Given the description of an element on the screen output the (x, y) to click on. 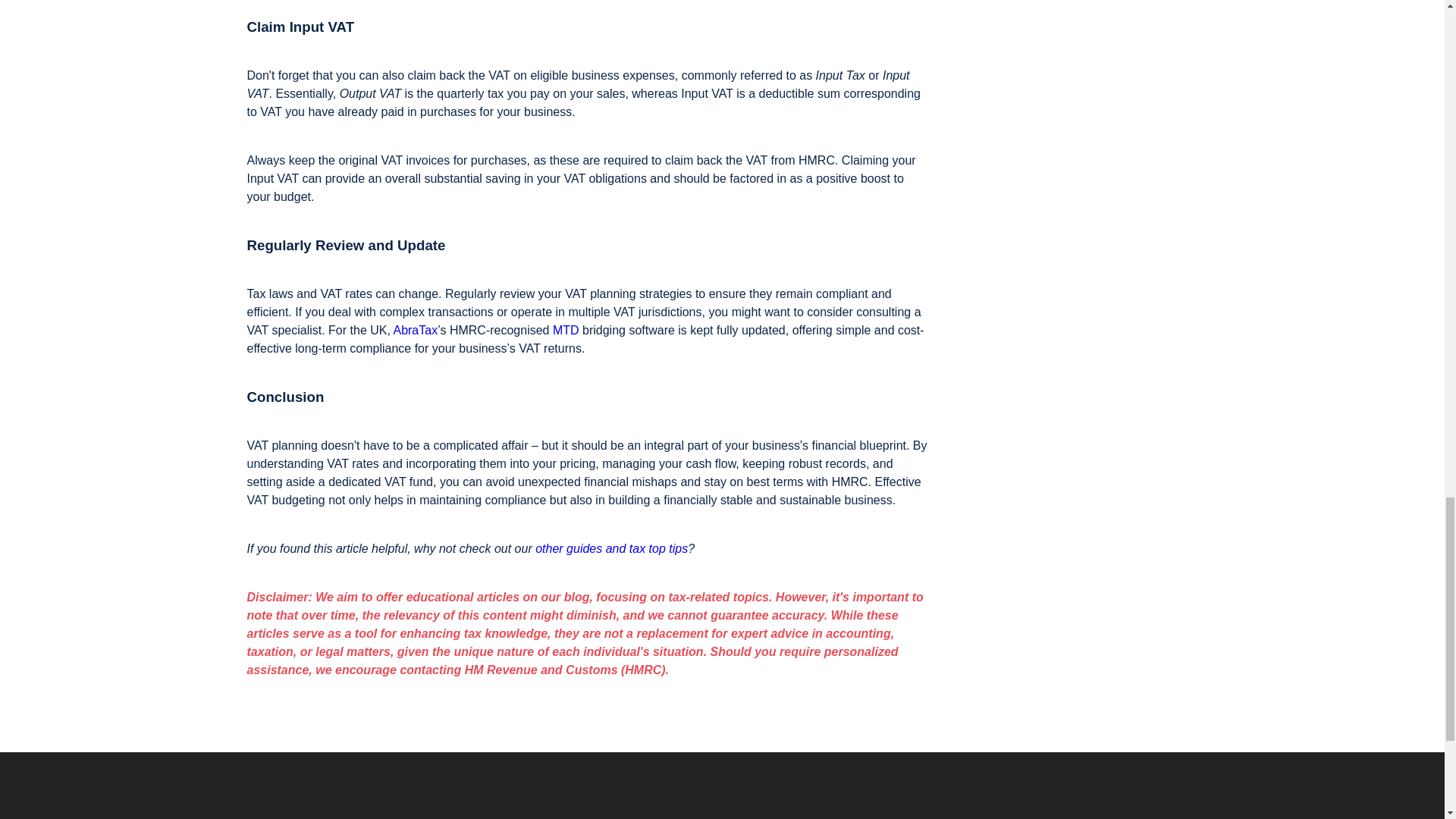
other guides and tax top tips (611, 548)
AbraTax (415, 329)
MTD (566, 329)
